Given the description of an element on the screen output the (x, y) to click on. 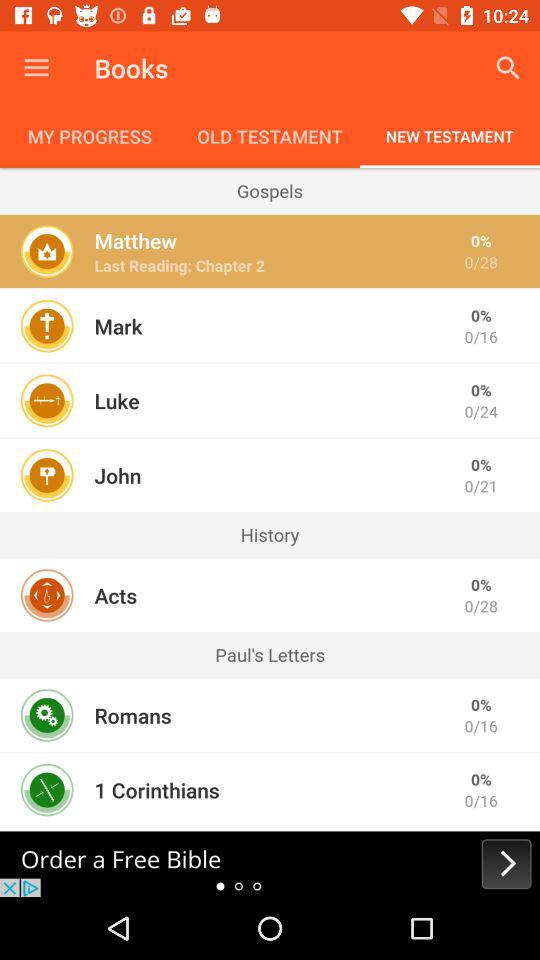
advertisement to order bible for free (270, 864)
